Given the description of an element on the screen output the (x, y) to click on. 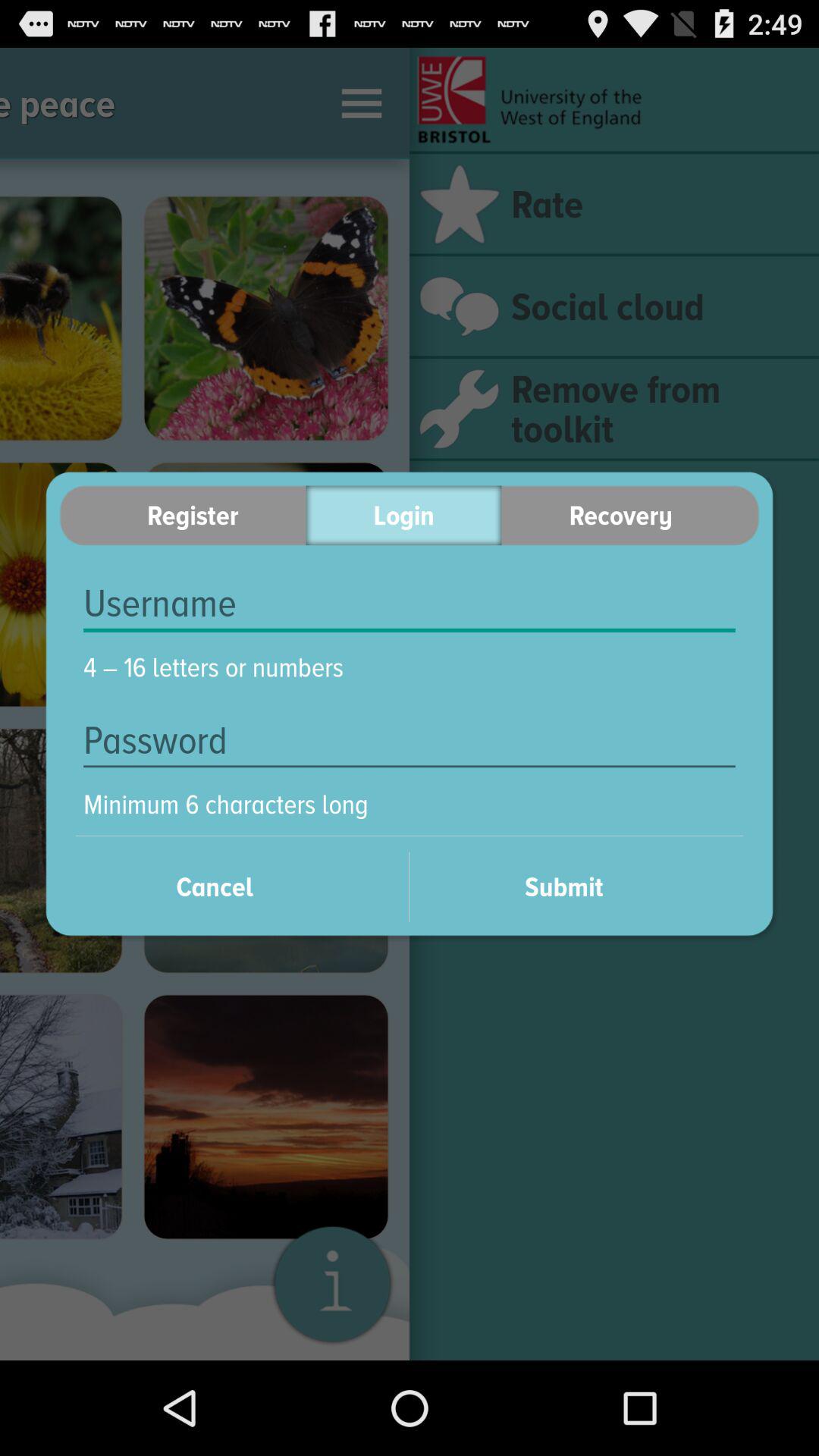
press the icon below 4 16 letters (409, 740)
